Given the description of an element on the screen output the (x, y) to click on. 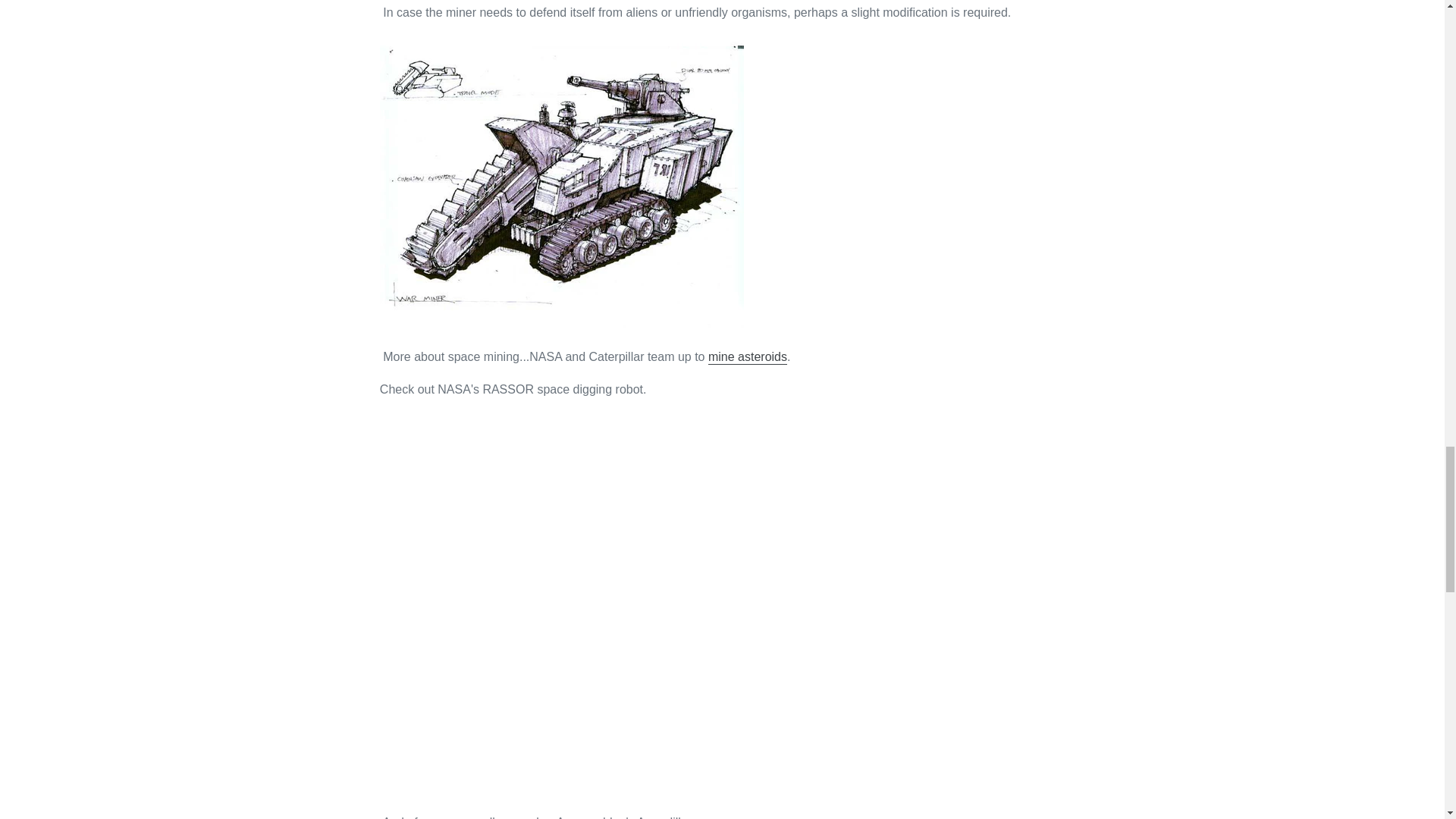
mine asteroids (747, 357)
